Given the description of an element on the screen output the (x, y) to click on. 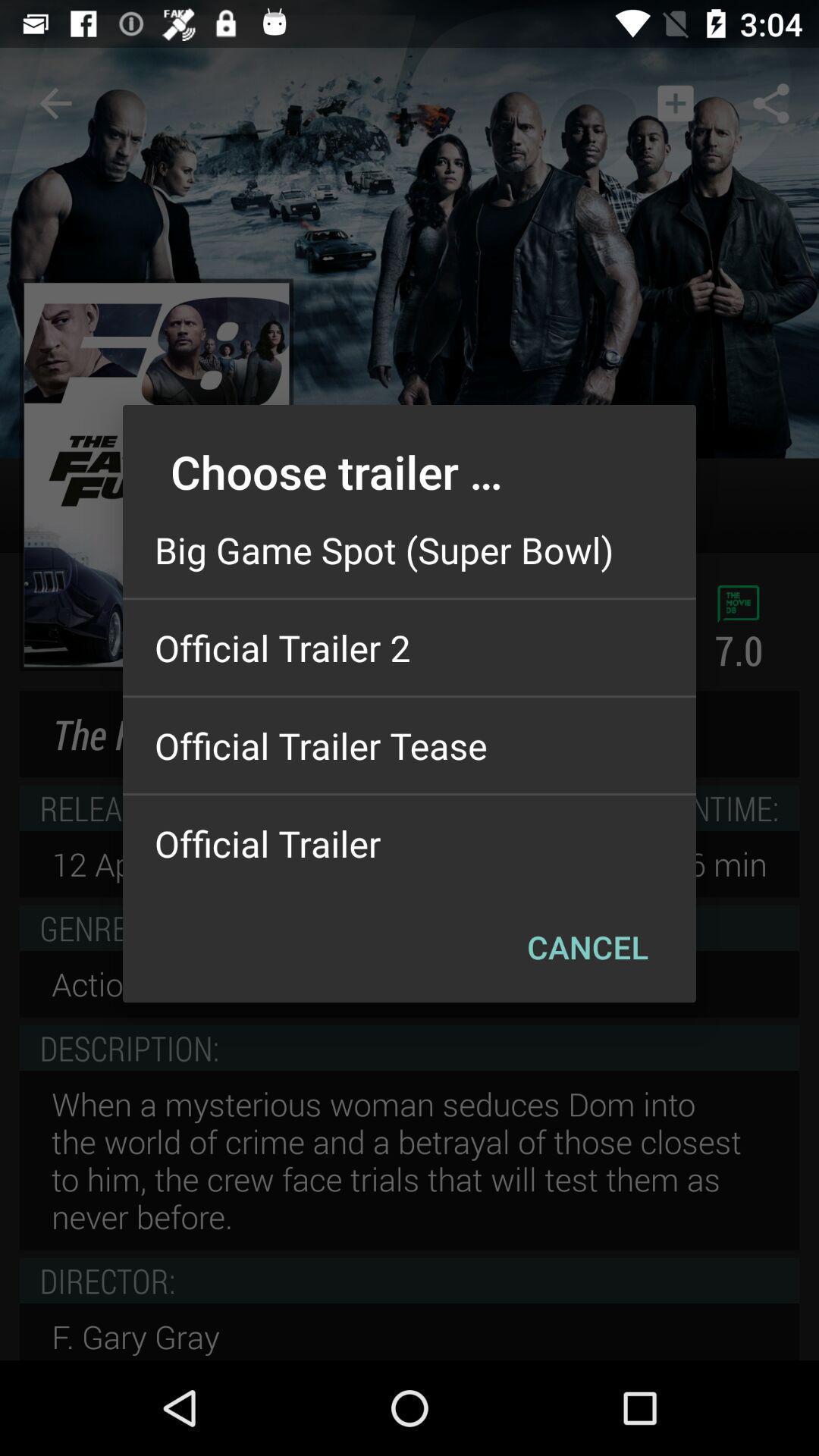
press the item below official trailer (587, 946)
